Given the description of an element on the screen output the (x, y) to click on. 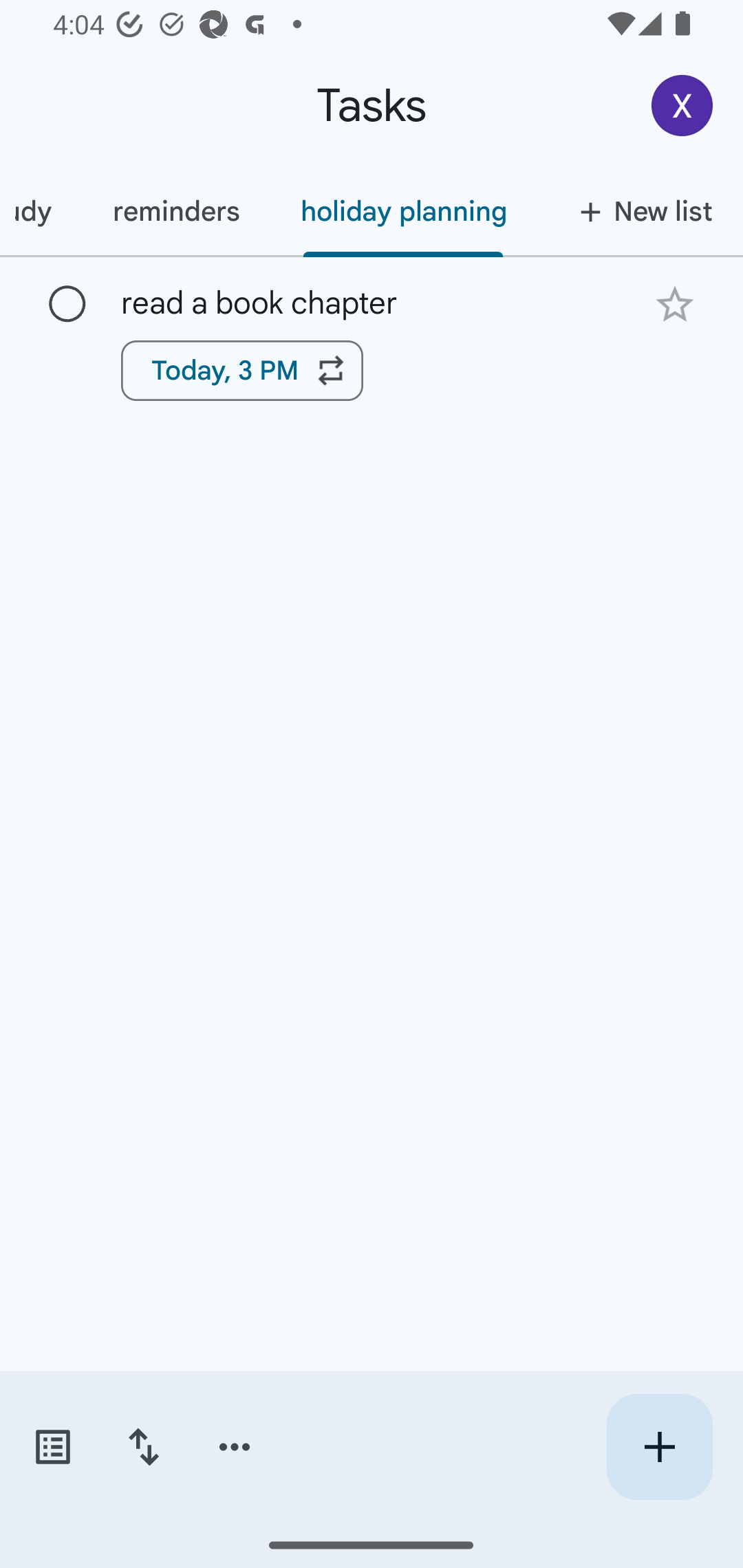
reminders (175, 211)
New list (640, 211)
Add star (674, 303)
Mark as complete (67, 304)
Today, 3 PM (242, 369)
Switch task lists (52, 1447)
Create new task (659, 1446)
Change sort order (143, 1446)
More options (234, 1446)
